Given the description of an element on the screen output the (x, y) to click on. 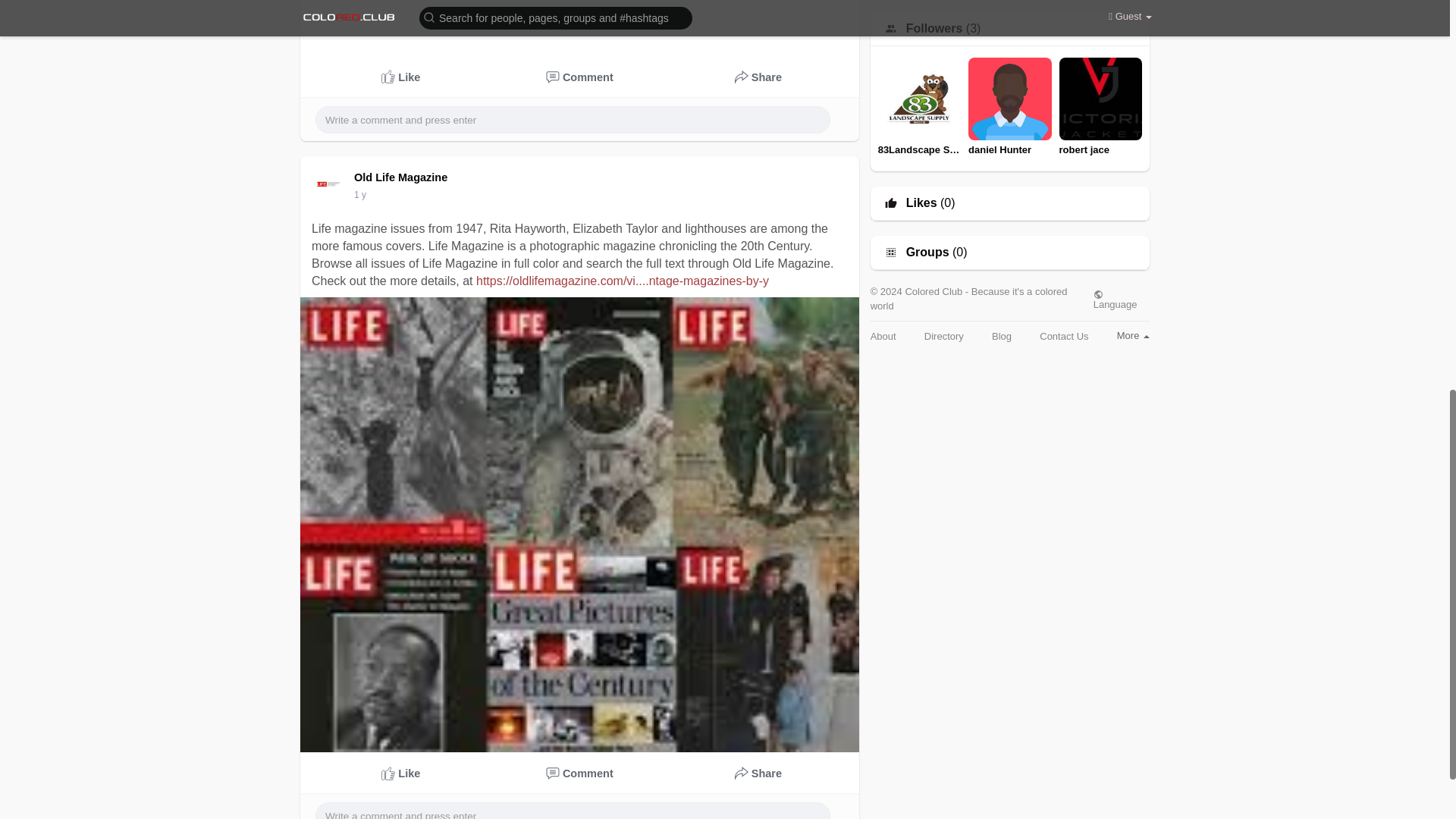
Blog (1001, 336)
Share (757, 77)
Comments (579, 77)
Share (757, 773)
Likes (921, 203)
Old Life Magazine (402, 177)
Followers (933, 28)
Contact Us (1063, 336)
About (883, 336)
1 y (359, 194)
Comments (579, 773)
Directory (943, 336)
Groups (927, 252)
More (1133, 335)
Language (1121, 299)
